Given the description of an element on the screen output the (x, y) to click on. 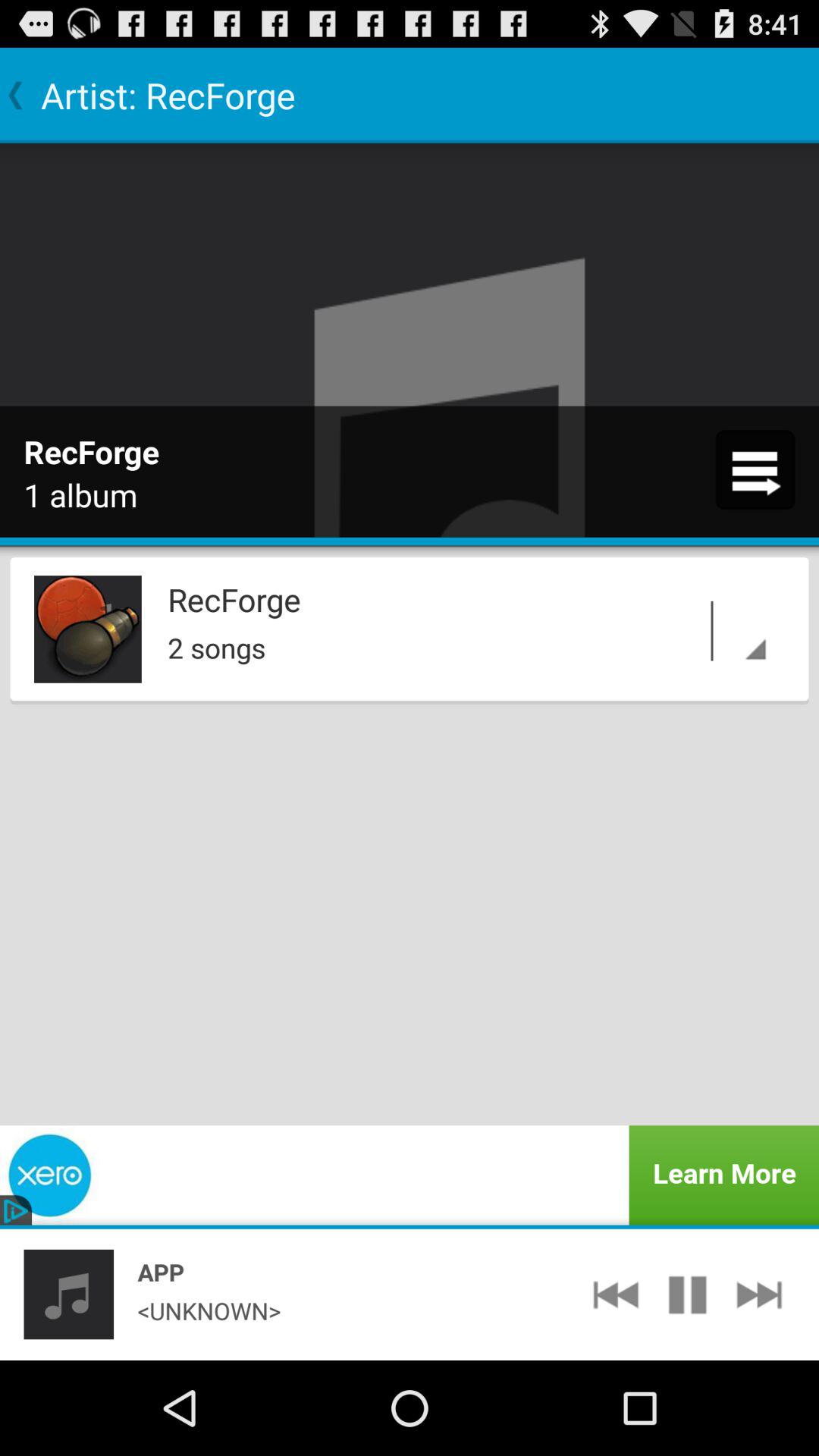
press icon below recforge icon (470, 643)
